Given the description of an element on the screen output the (x, y) to click on. 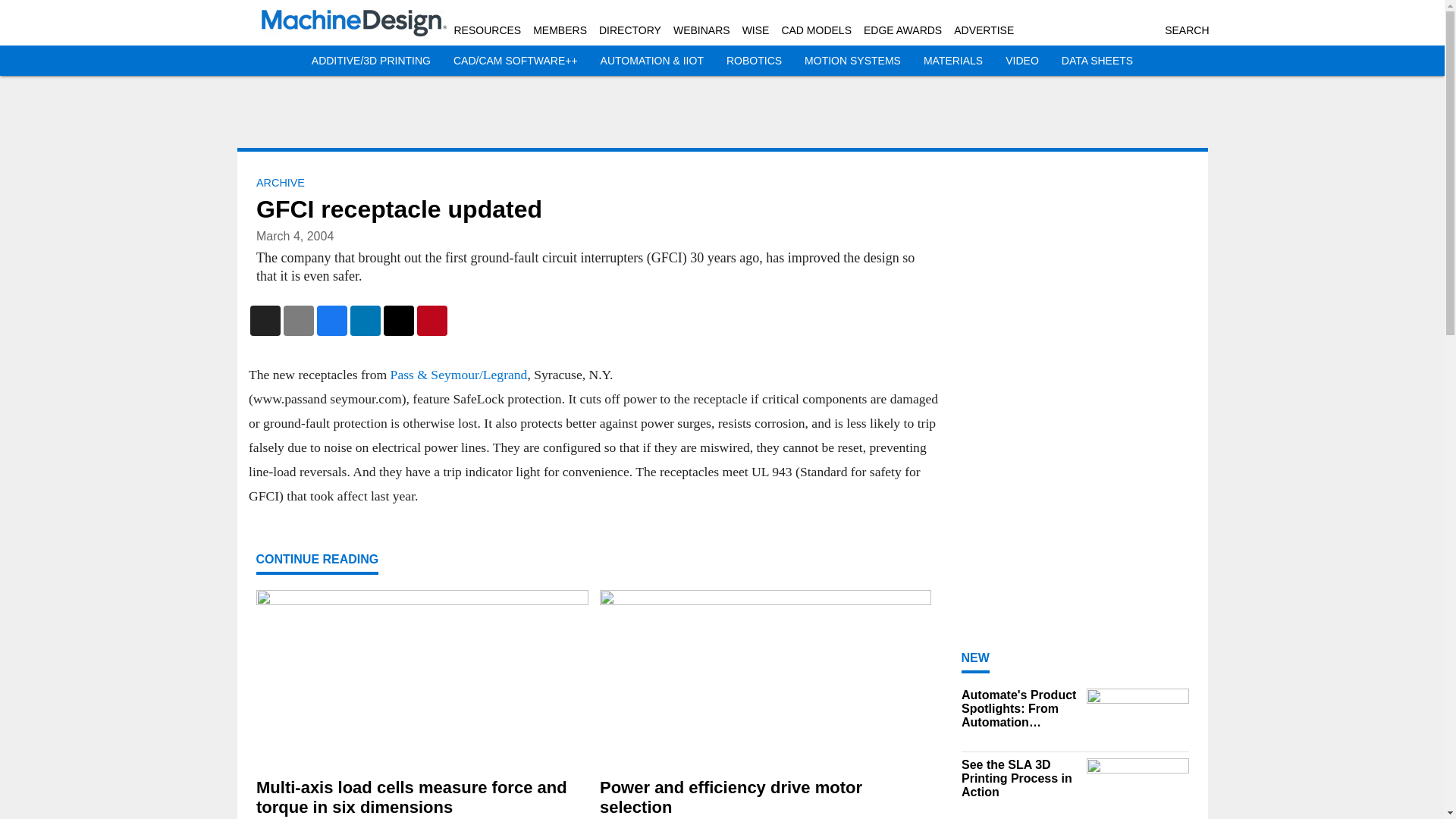
MEMBERS (559, 30)
WISE (756, 30)
Power and efficiency drive motor selection (764, 797)
ARCHIVE (280, 182)
WEBINARS (701, 30)
DATA SHEETS (1096, 60)
EDGE AWARDS (902, 30)
MOTION SYSTEMS (853, 60)
CAD MODELS (815, 30)
VIDEO (1022, 60)
RESOURCES (486, 30)
ADVERTISE (983, 30)
MATERIALS (952, 60)
SEARCH (1186, 30)
